Given the description of an element on the screen output the (x, y) to click on. 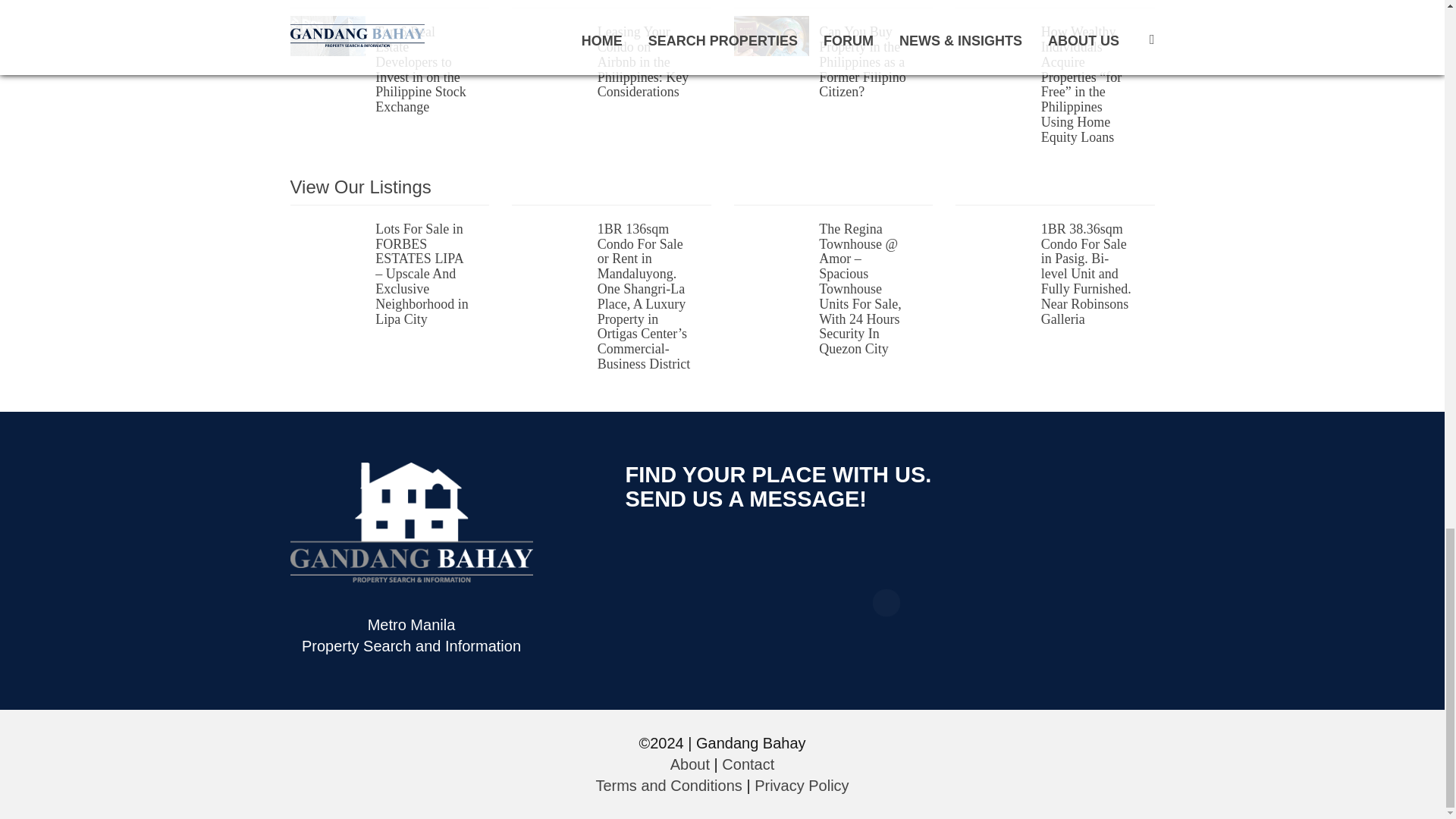
Contact (748, 764)
About (689, 764)
Terms and Conditions (668, 785)
Privacy Policy (801, 785)
